Given the description of an element on the screen output the (x, y) to click on. 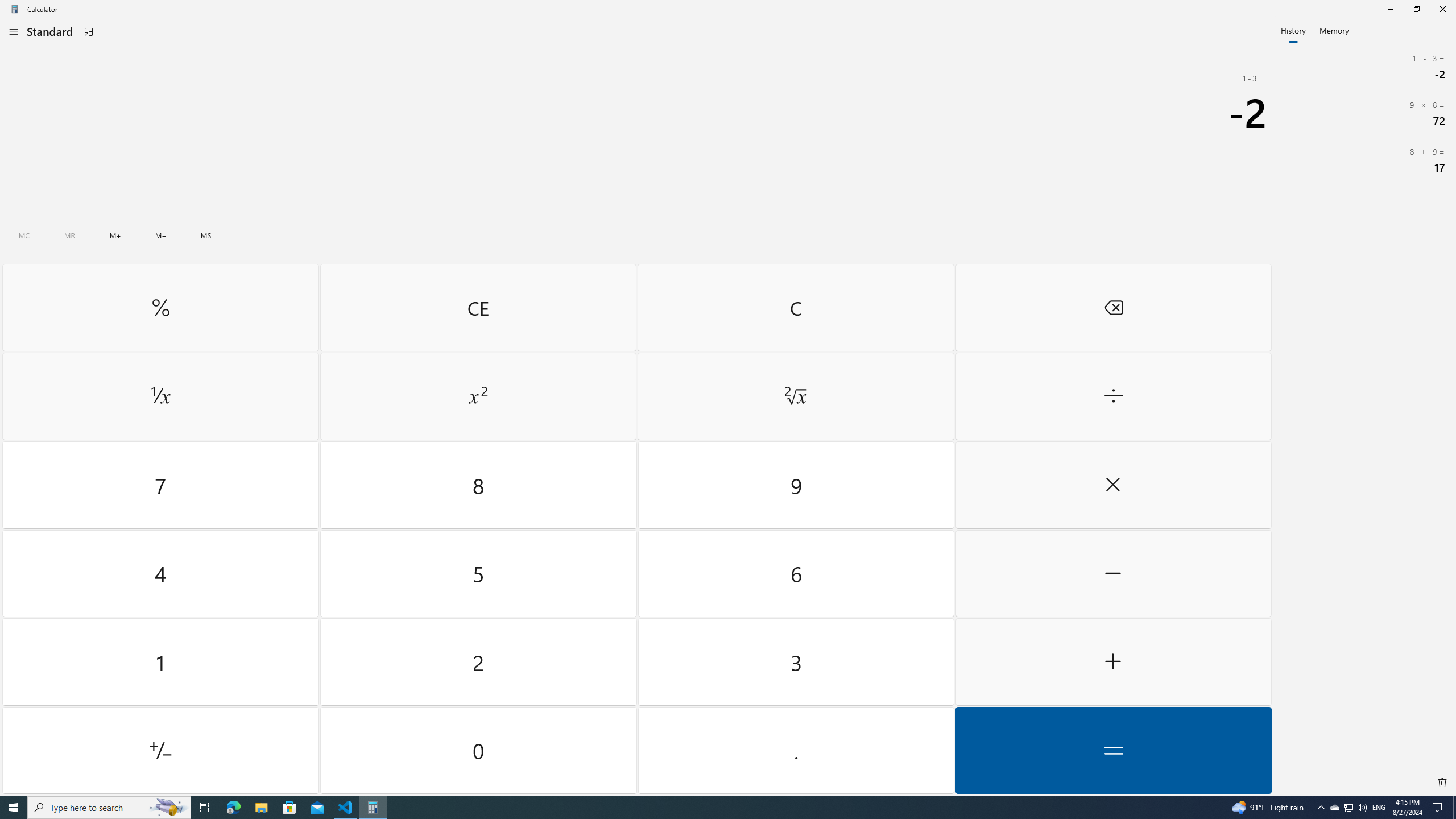
Memory recall (69, 235)
Open Navigation (13, 31)
Three (795, 661)
Plus (1113, 661)
History (1293, 29)
Positive negative (1333, 807)
One (160, 749)
Memory subtract (160, 661)
Action Center, No new notifications (160, 235)
Eight (1439, 807)
8 + 9= 17 (478, 485)
Four (1364, 159)
Keep on top (160, 572)
Search highlights icon opens search home window (88, 31)
